Given the description of an element on the screen output the (x, y) to click on. 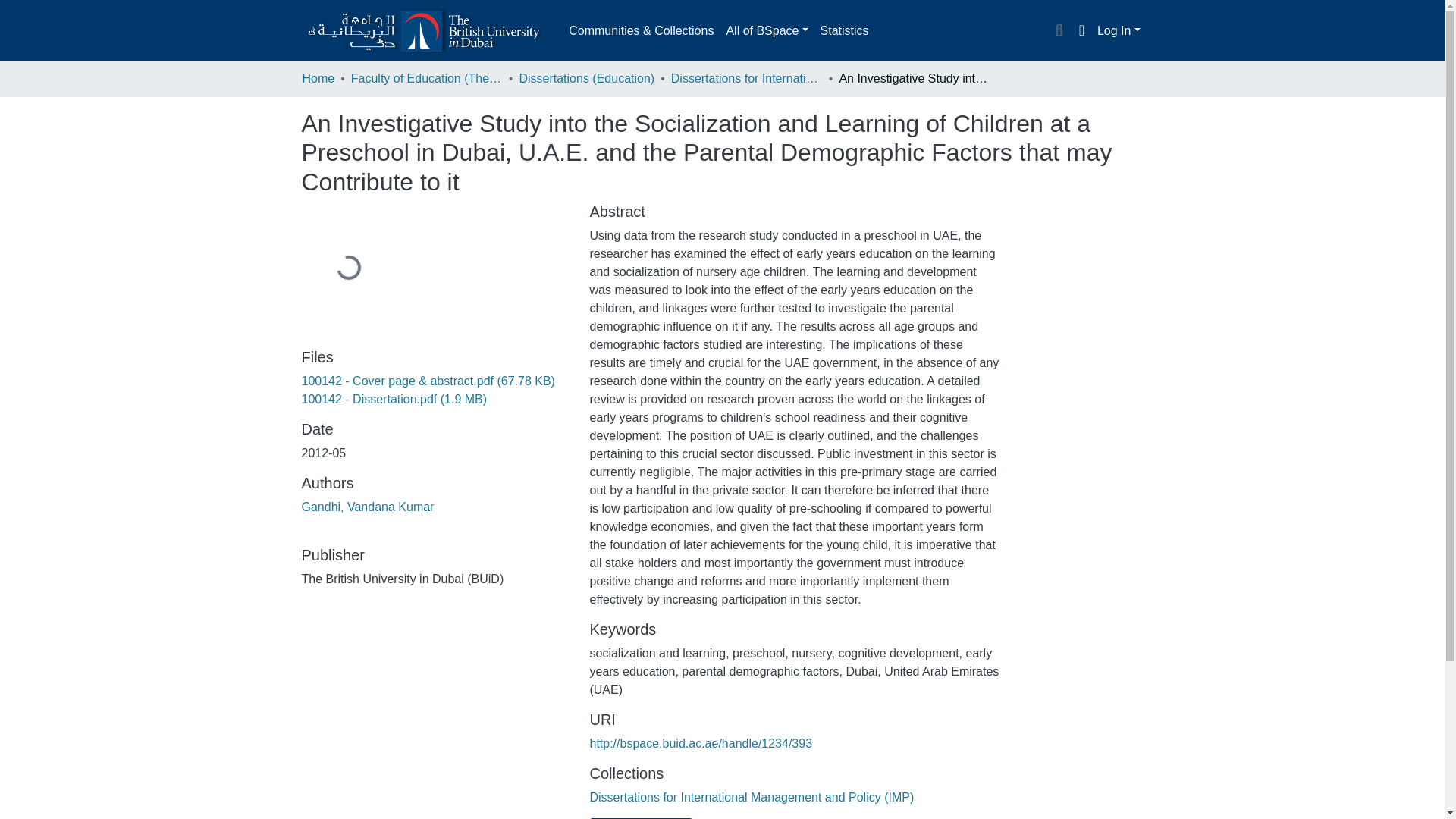
Language switch (1081, 30)
Gandhi, Vandana Kumar (367, 506)
Log In (1118, 30)
Statistics (844, 30)
Statistics (844, 30)
Home (317, 78)
Search (1058, 30)
All of BSpace (766, 30)
